Given the description of an element on the screen output the (x, y) to click on. 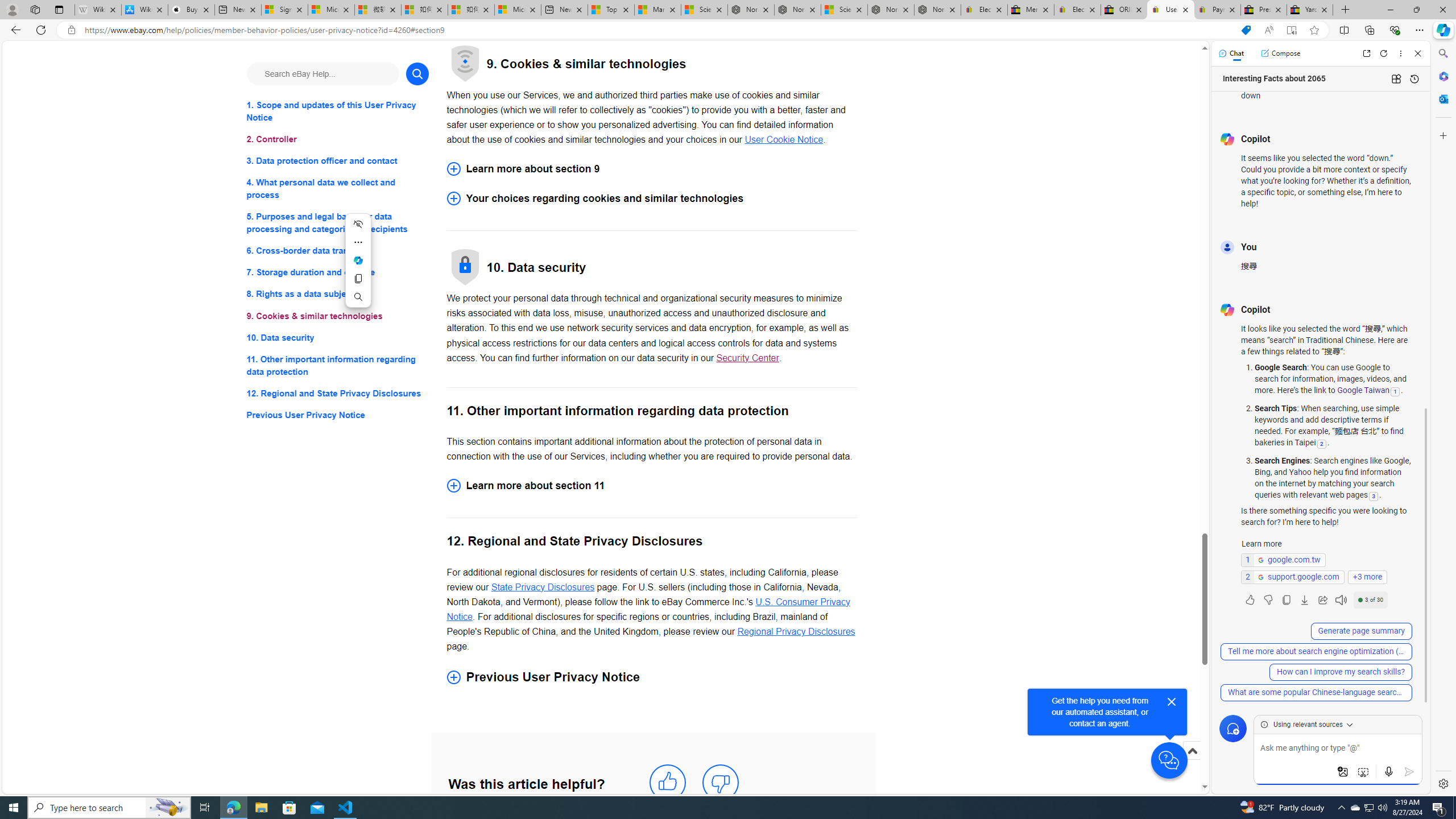
Hide menu (358, 223)
U.S. Consumer Privacy Notice - opens in new window or tab (648, 608)
1. Scope and updates of this User Privacy Notice (337, 111)
Previous User Privacy Notice (337, 414)
Chat (1231, 52)
2. Controller (337, 138)
4. What personal data we collect and process (337, 189)
